Given the description of an element on the screen output the (x, y) to click on. 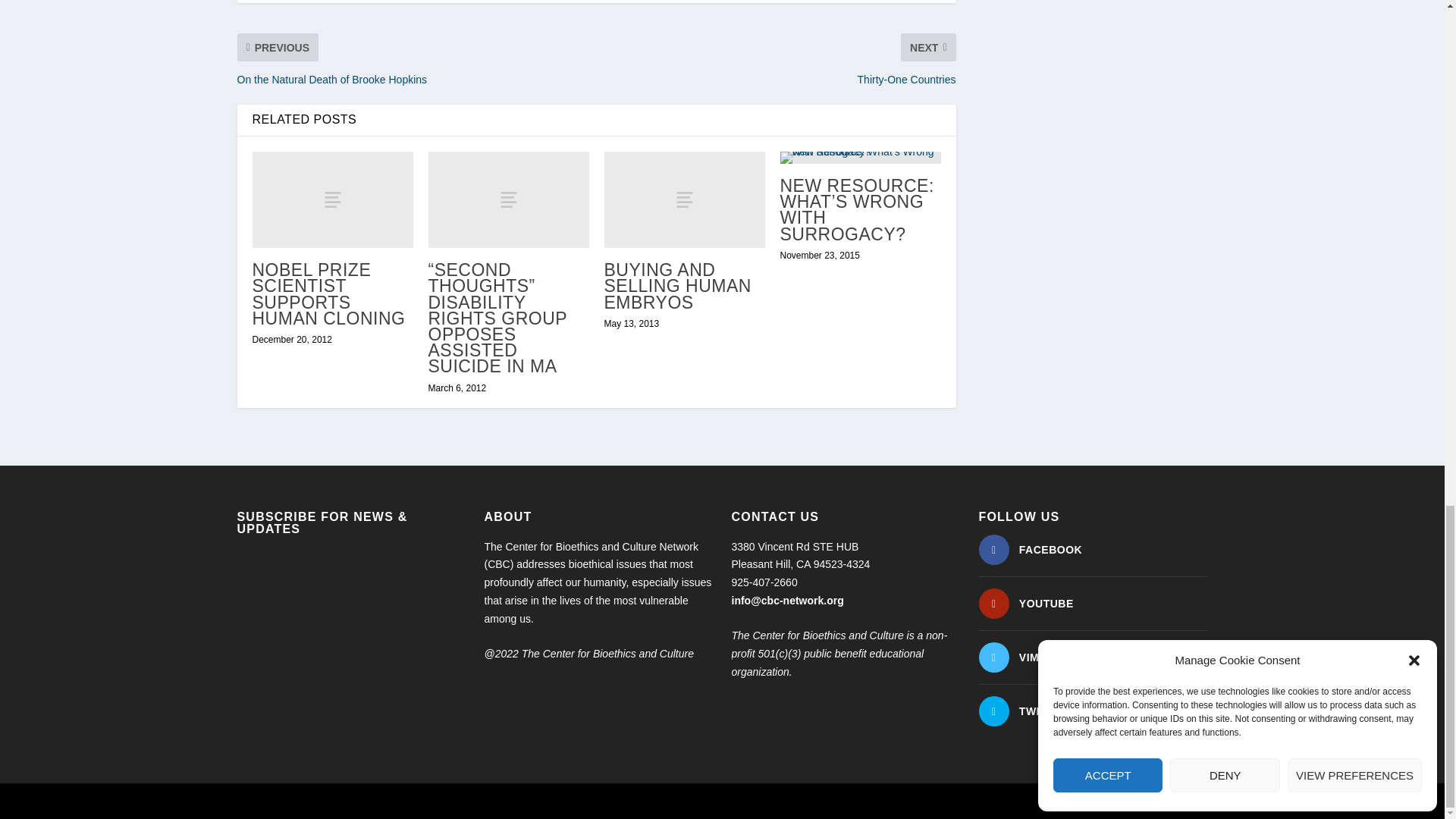
Buying and Selling Human Embryos (684, 199)
Nobel Prize Scientist Supports Human Cloning (331, 199)
